Given the description of an element on the screen output the (x, y) to click on. 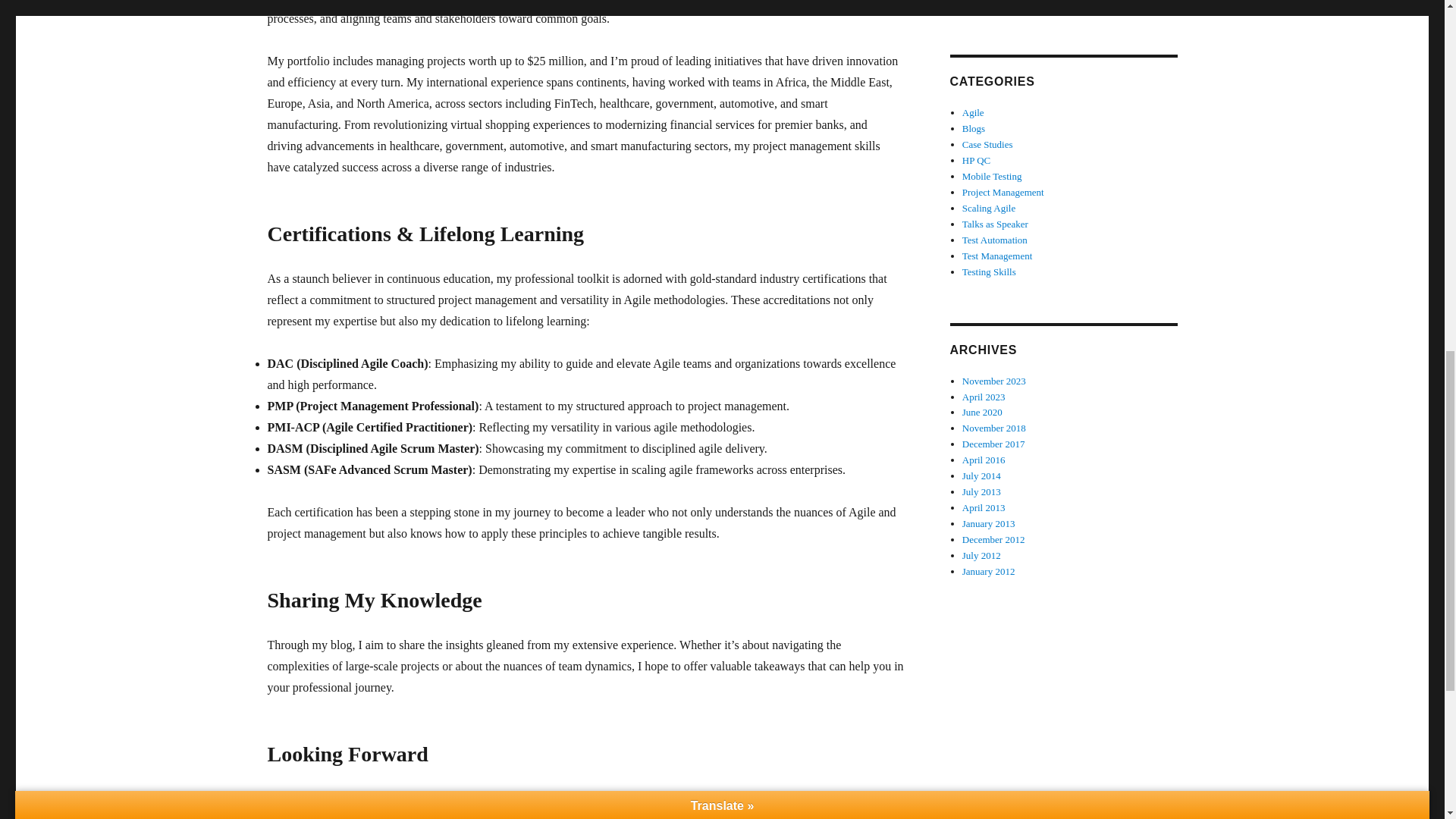
Project Management (1002, 192)
Agile Conference 2018 (1008, 4)
Test Management (997, 255)
Agile (973, 112)
Scaling Agile (988, 207)
Talks as Speaker (994, 224)
Mobile Testing (992, 175)
Blogs (973, 128)
HP QC (976, 160)
Test Automation (994, 239)
Case Studies (987, 143)
